Given the description of an element on the screen output the (x, y) to click on. 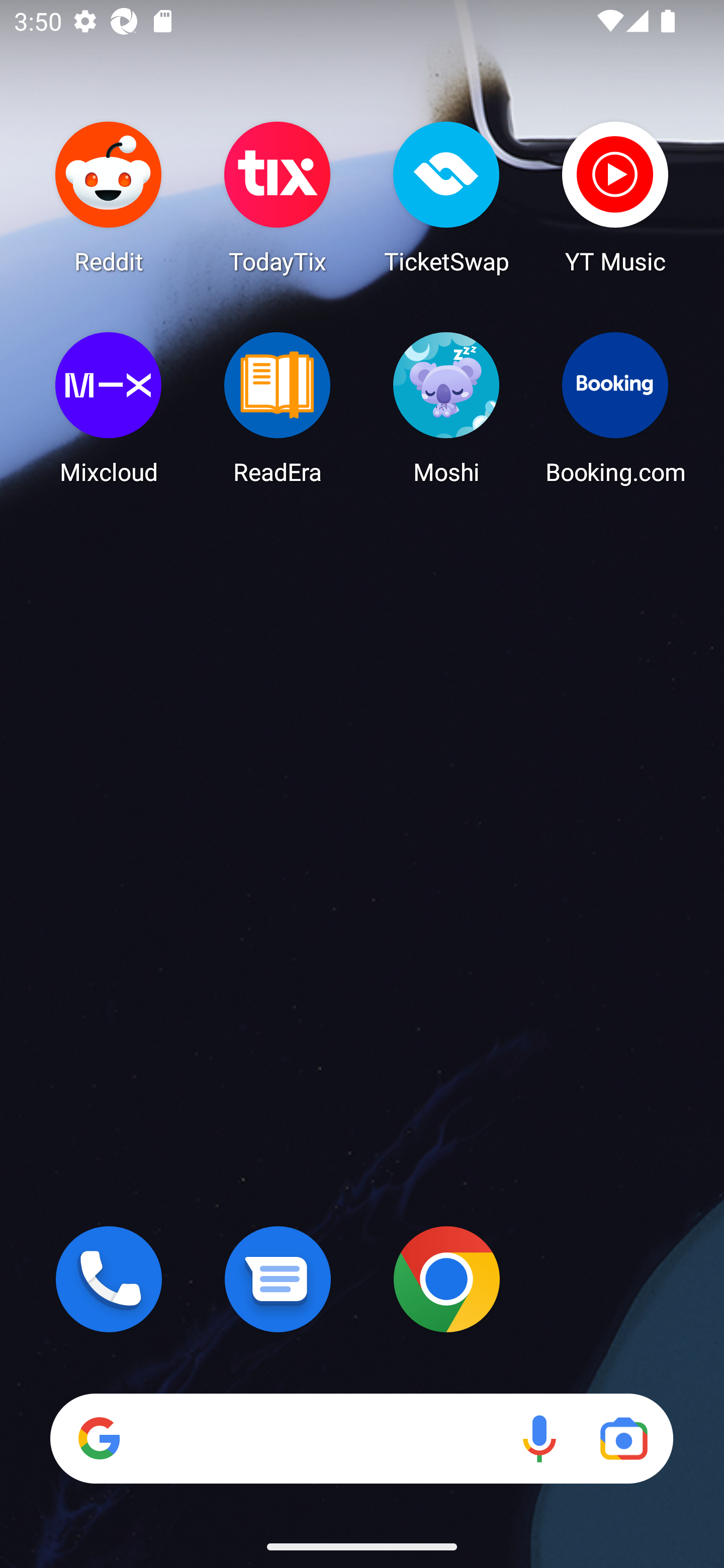
Reddit (108, 196)
TodayTix (277, 196)
TicketSwap (445, 196)
YT Music (615, 196)
Mixcloud (108, 407)
ReadEra (277, 407)
Moshi (445, 407)
Booking.com (615, 407)
Phone (108, 1279)
Messages (277, 1279)
Chrome (446, 1279)
Search Voice search Google Lens (361, 1438)
Voice search (539, 1438)
Google Lens (623, 1438)
